Given the description of an element on the screen output the (x, y) to click on. 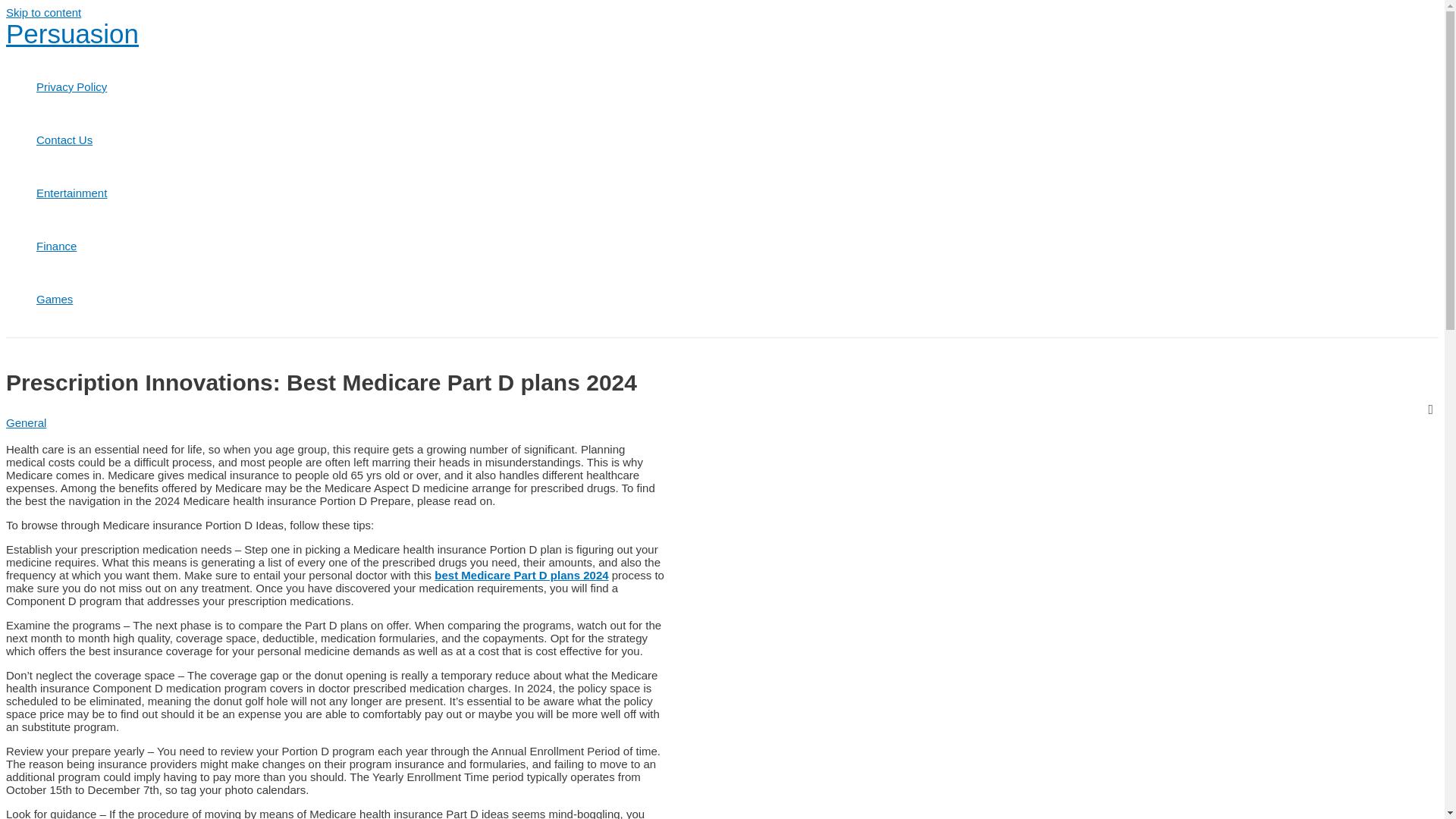
Entertainment (71, 193)
Skip to content (43, 11)
Games (71, 298)
Persuasion (71, 33)
Finance (71, 246)
Privacy Policy (71, 86)
Contact Us (71, 140)
General (25, 422)
best Medicare Part D plans 2024 (520, 574)
